Given the description of an element on the screen output the (x, y) to click on. 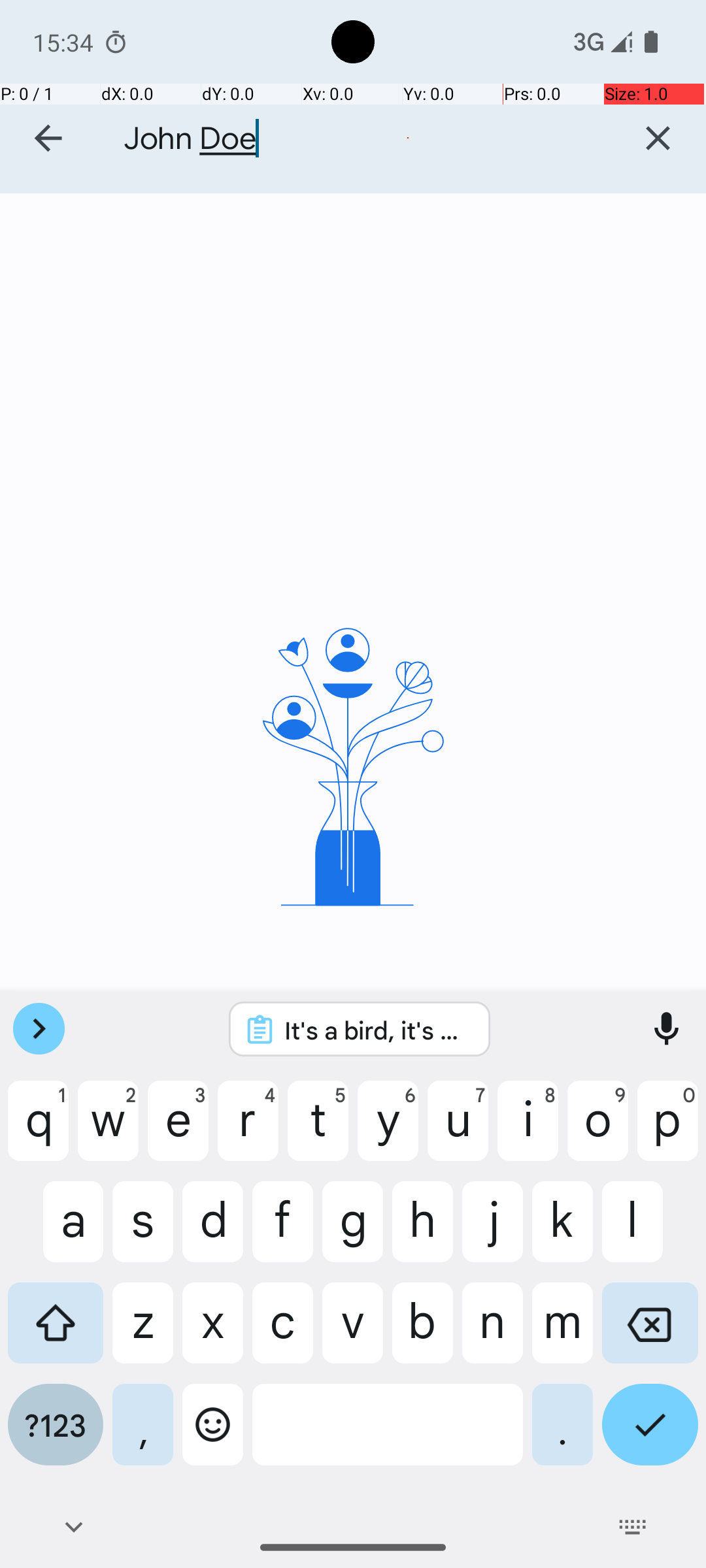
John Doe Element type: android.widget.EditText (359, 138)
Clear search Element type: android.widget.ImageButton (657, 138)
